Given the description of an element on the screen output the (x, y) to click on. 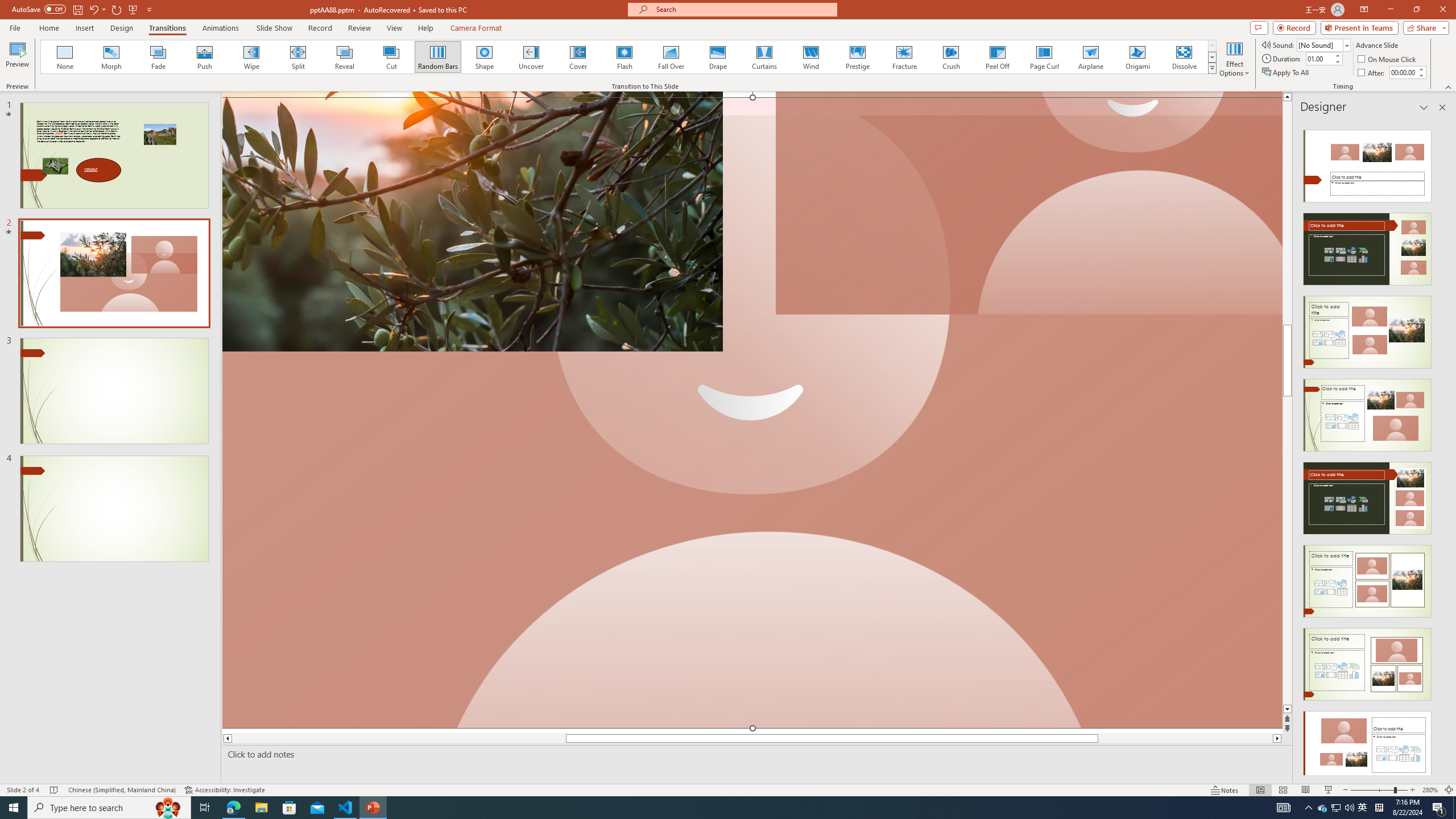
Fracture (903, 56)
On Mouse Click (1387, 58)
None (65, 56)
Page Curl (1043, 56)
Drape (717, 56)
Uncover (531, 56)
Camera Format (475, 28)
Effect Options (1234, 58)
